Given the description of an element on the screen output the (x, y) to click on. 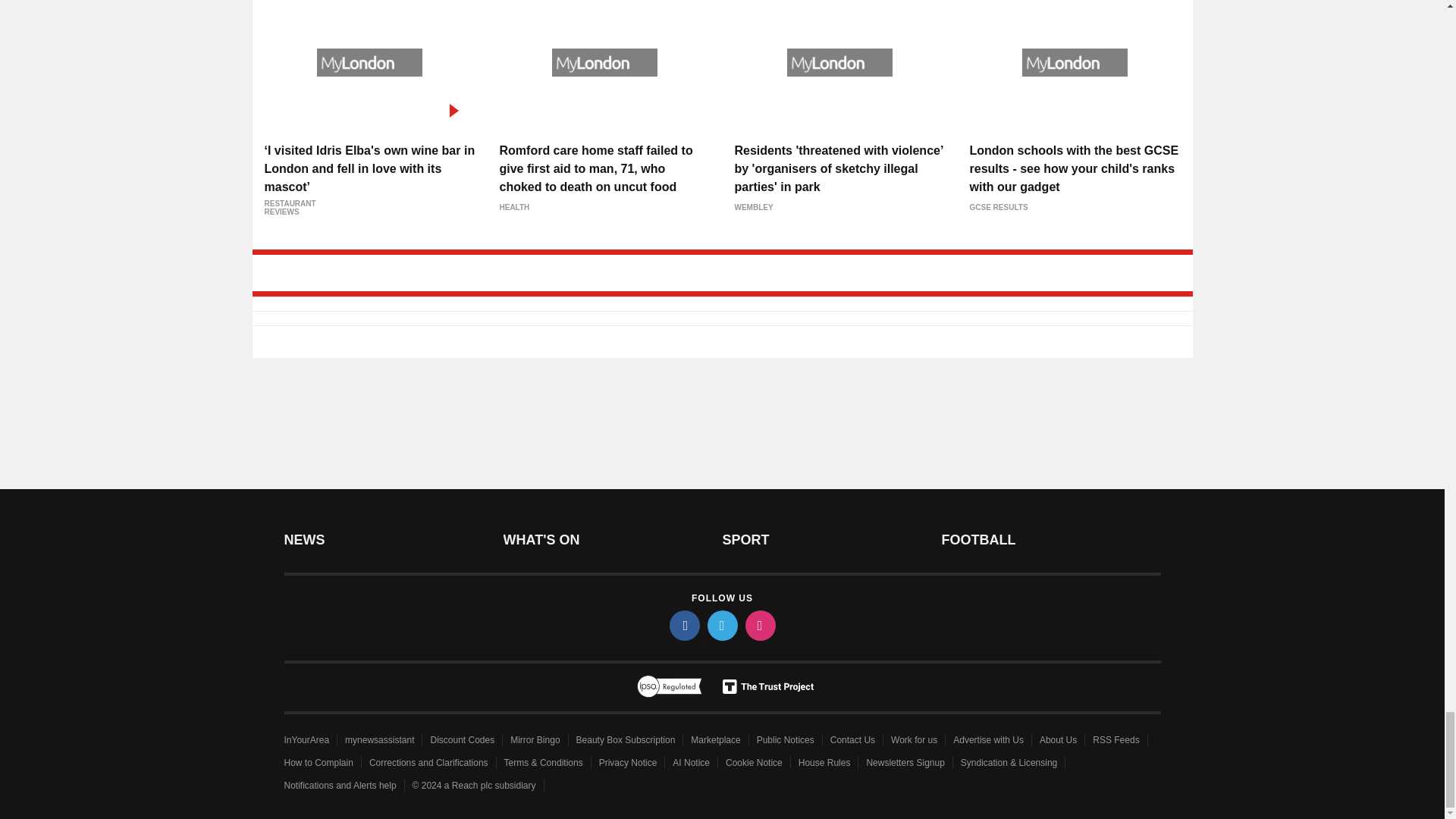
instagram (759, 625)
facebook (683, 625)
twitter (721, 625)
